Given the description of an element on the screen output the (x, y) to click on. 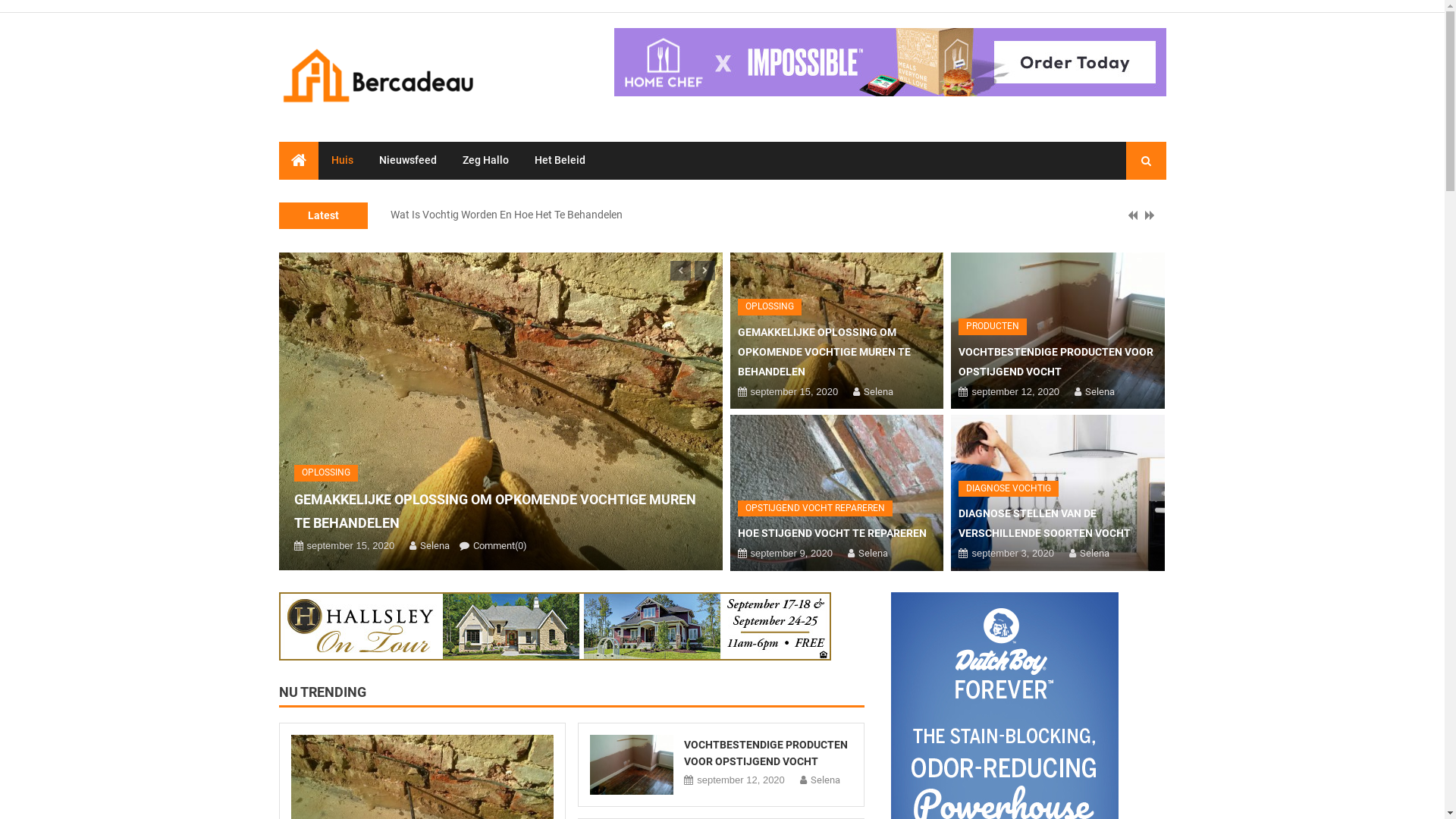
september 12, 2020 Element type: text (740, 779)
Huis Element type: text (342, 159)
VOCHTBESTENDIGE PRODUCTEN VOOR OPSTIJGEND VOCHT Element type: text (765, 752)
OPLOSSING Element type: text (325, 472)
Selena Element type: text (1099, 391)
Selena Element type: text (1094, 552)
PRODUCTEN Element type: text (992, 326)
Selena Element type: text (434, 545)
Vochtbestendige producten voor opstijgend vocht Element type: hover (1057, 330)
Selena Element type: text (873, 552)
DIAGNOSE VOCHTIG Element type: text (1008, 488)
september 12, 2020 Element type: text (1015, 391)
Diagnose stellen van de verschillende soorten vocht Element type: text (509, 208)
OPSTIJGEND VOCHT REPAREREN Element type: text (814, 508)
september 15, 2020 Element type: text (794, 391)
september 3, 2020 Element type: text (1012, 552)
Selena Element type: text (825, 779)
OPLOSSING Element type: text (768, 306)
september 15, 2020 Element type: text (350, 545)
Vochtbestendige producten voor opstijgend vocht Element type: hover (631, 764)
Diagnose stellen van de verschillende soorten vocht Element type: hover (1057, 492)
Wat Is Vochtig Worden En Hoe Het Te Behandelen Element type: text (505, 227)
Skip to content Element type: text (0, 0)
Selena Element type: text (878, 391)
Zoeken Element type: text (1133, 217)
september 9, 2020 Element type: text (791, 552)
VOCHTBESTENDIGE PRODUCTEN VOOR OPSTIJGEND VOCHT Element type: text (1055, 361)
Hoe stijgend vocht te repareren Element type: hover (836, 492)
Comment(0) Element type: text (500, 545)
Het Beleid Element type: text (559, 159)
DIAGNOSE STELLEN VAN DE VERSCHILLENDE SOORTEN VOCHT Element type: text (1044, 523)
Zeg Hallo Element type: text (484, 159)
Nieuwsfeed Element type: text (407, 159)
HOE STIJGEND VOCHT TE REPAREREN Element type: text (831, 533)
